Given the description of an element on the screen output the (x, y) to click on. 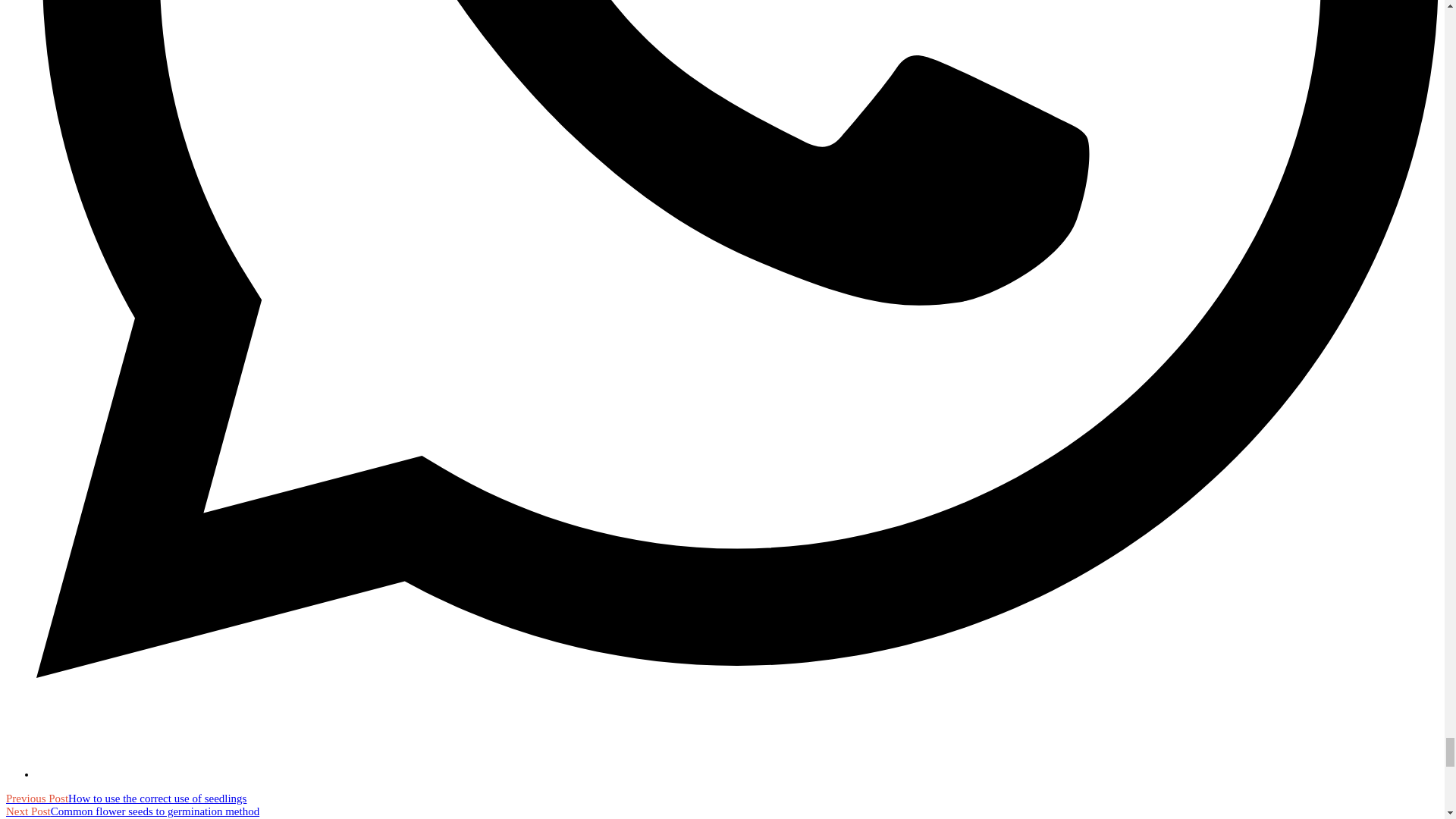
Previous PostHow to use the correct use of seedlings (125, 798)
Next PostCommon flower seeds to germination method (132, 811)
